Given the description of an element on the screen output the (x, y) to click on. 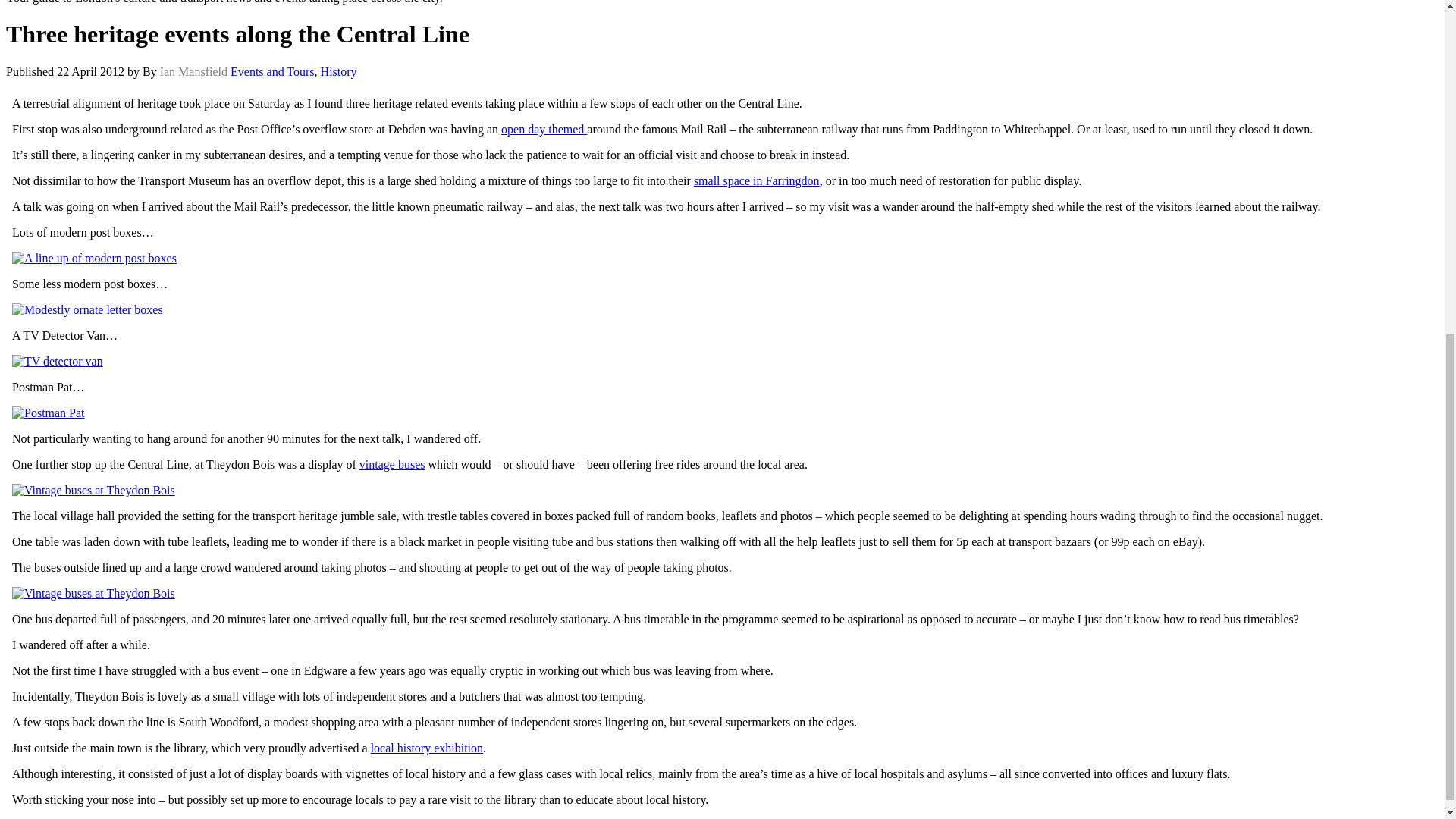
TV detector van by IanVisits, on Flickr (57, 360)
Postman Pat by IanVisits, on Flickr (47, 412)
Vintage buses at Theydon Bois by IanVisits, on Flickr (92, 593)
Events and Tours (272, 71)
Ian Mansfield (193, 71)
History (338, 71)
Modestly ornate letter boxes by IanVisits, on Flickr (87, 309)
Vintage buses at Theydon Bois by IanVisits, on Flickr (92, 490)
A line up of modern post boxes by IanVisits, on Flickr (93, 257)
